Given the description of an element on the screen output the (x, y) to click on. 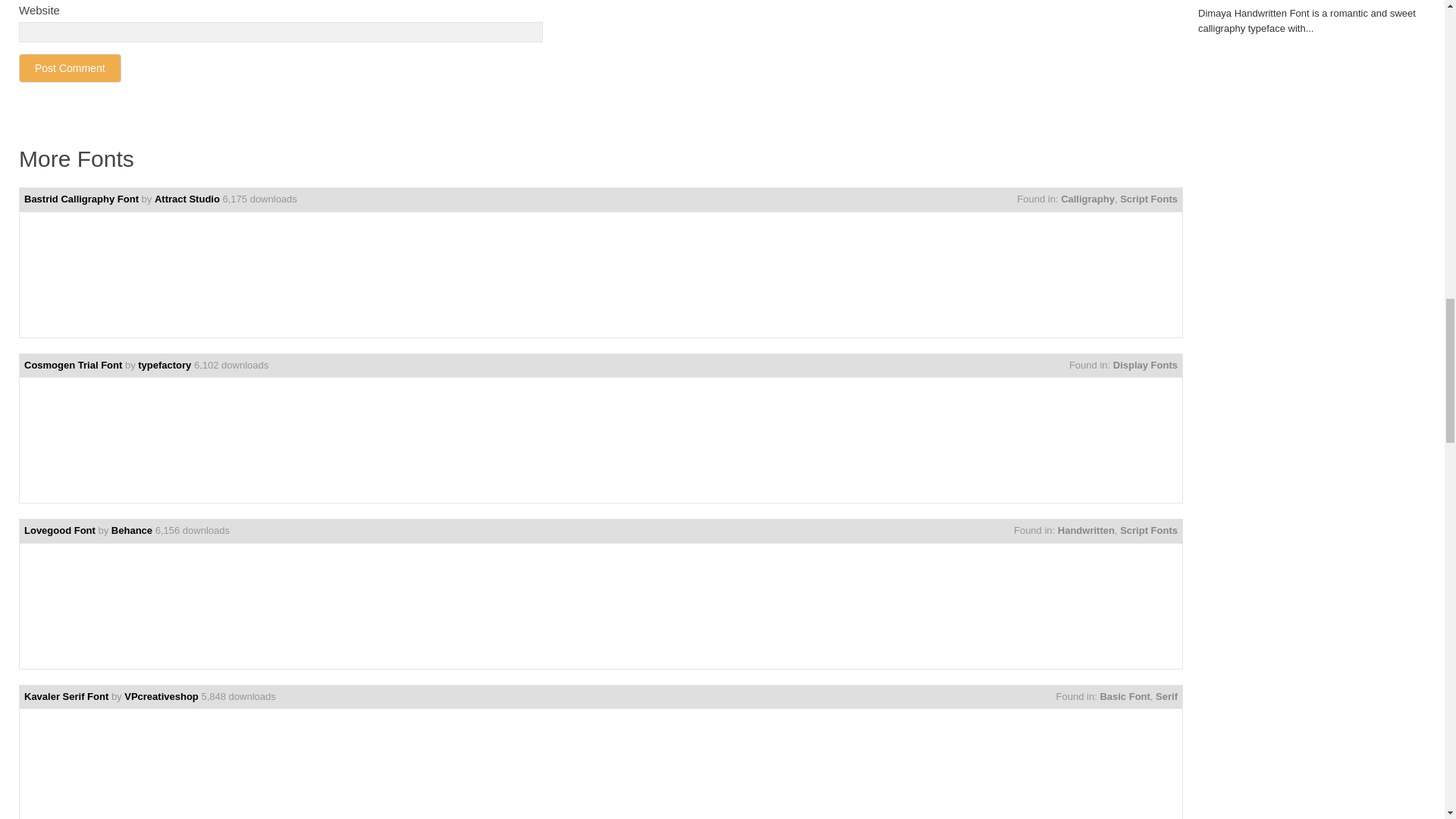
Post Comment (69, 68)
